Given the description of an element on the screen output the (x, y) to click on. 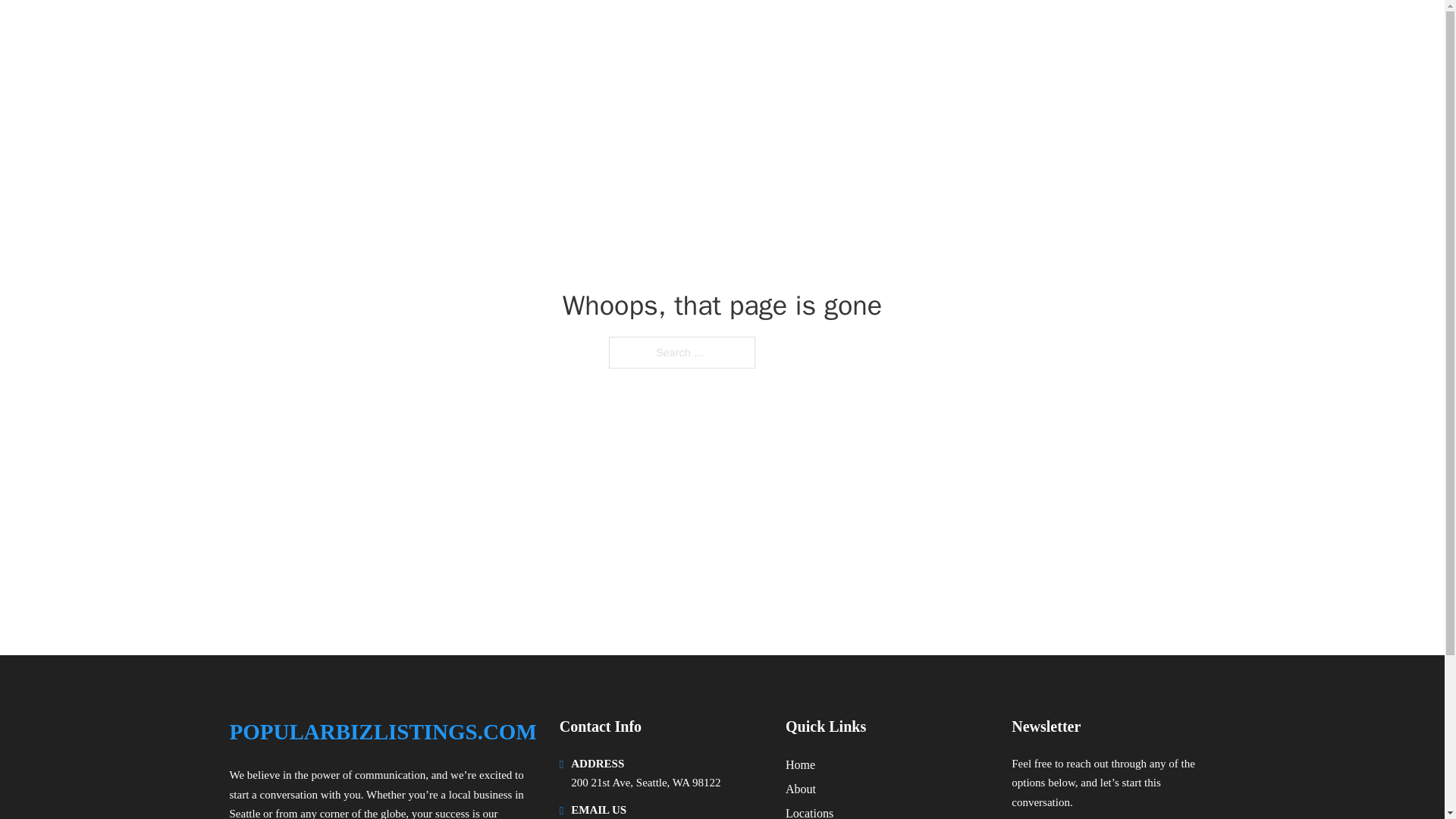
POPULARBIZLISTINGS.COM (397, 31)
HOME (1025, 31)
About (800, 788)
POPULARBIZLISTINGS.COM (381, 732)
Home (800, 764)
LOCATIONS (1098, 31)
Locations (809, 811)
